Given the description of an element on the screen output the (x, y) to click on. 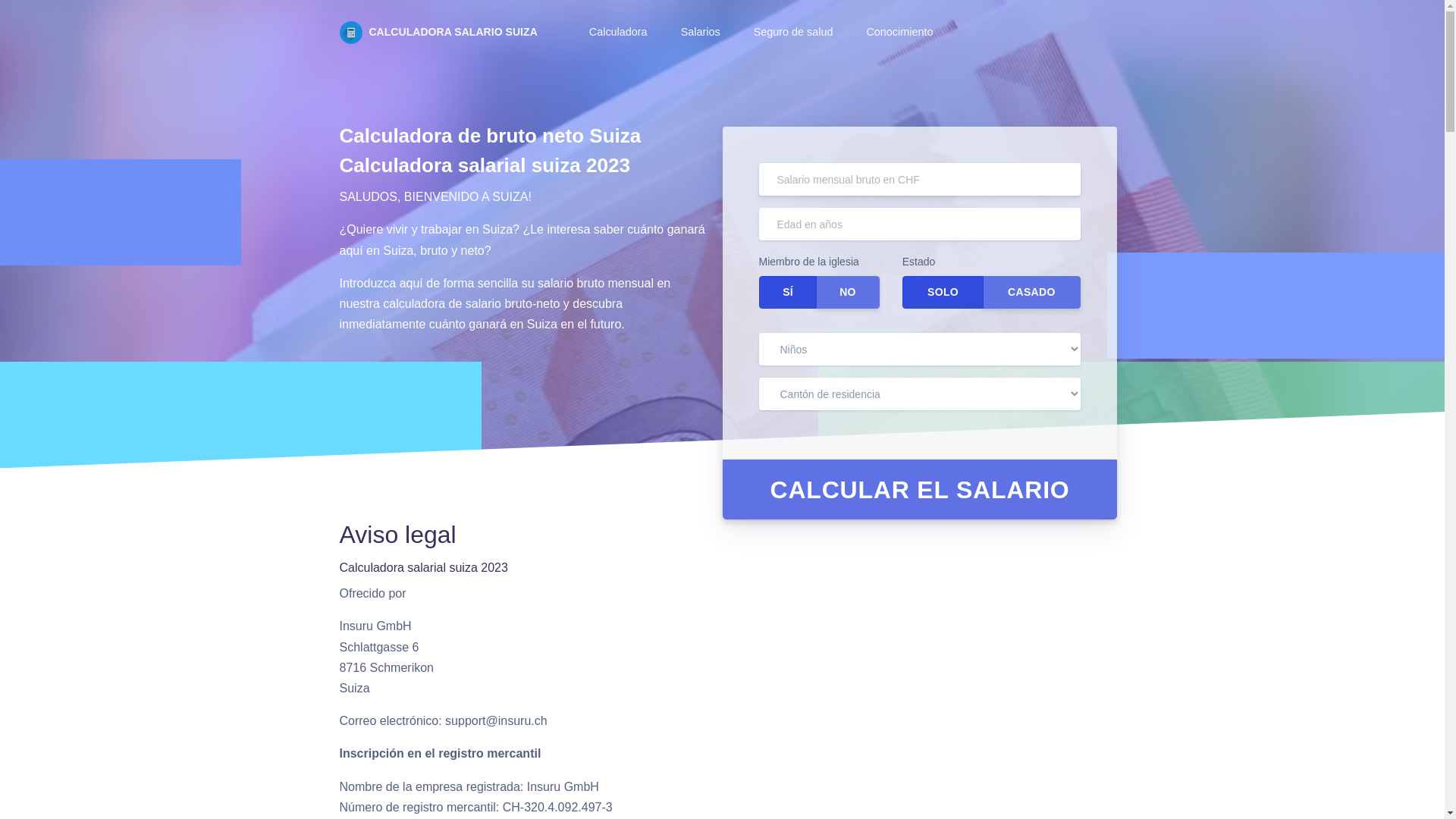
CALCULADORA SALARIO SUIZA Element type: text (438, 32)
Calculadora Element type: text (616, 32)
CALCULAR EL SALARIO Element type: text (918, 489)
Conocimiento Element type: text (897, 32)
Salarios Element type: text (698, 32)
Seguro de salud Element type: text (791, 32)
